Given the description of an element on the screen output the (x, y) to click on. 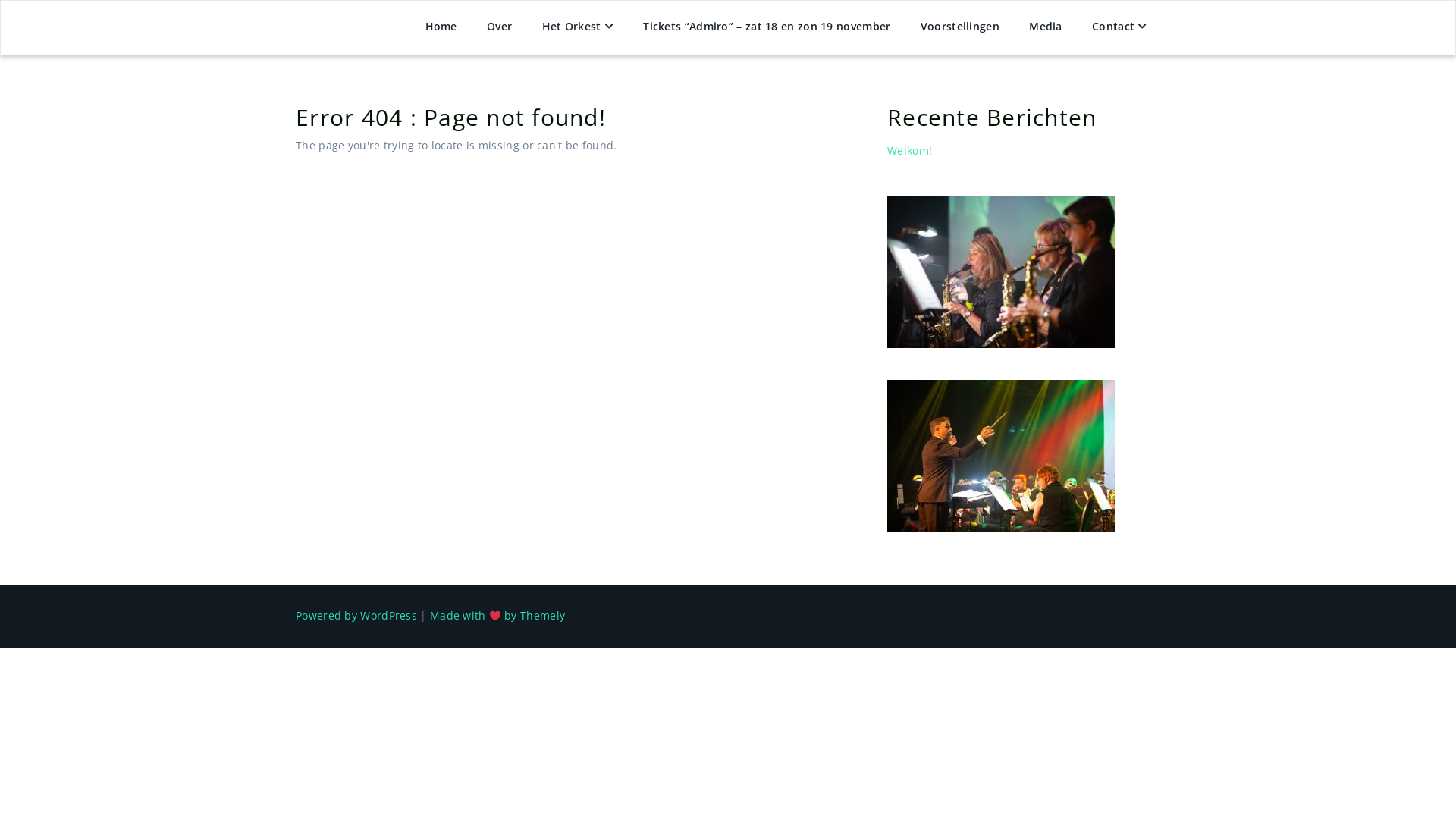
Made with by Themely Element type: text (496, 615)
Contact Element type: text (1119, 27)
Welkom! Element type: text (909, 150)
Het Orkest Element type: text (577, 27)
Media Element type: text (1045, 27)
Over Element type: text (498, 27)
Home Element type: text (441, 27)
Voorstellingen Element type: text (959, 27)
Powered by WordPress Element type: text (356, 615)
